Given the description of an element on the screen output the (x, y) to click on. 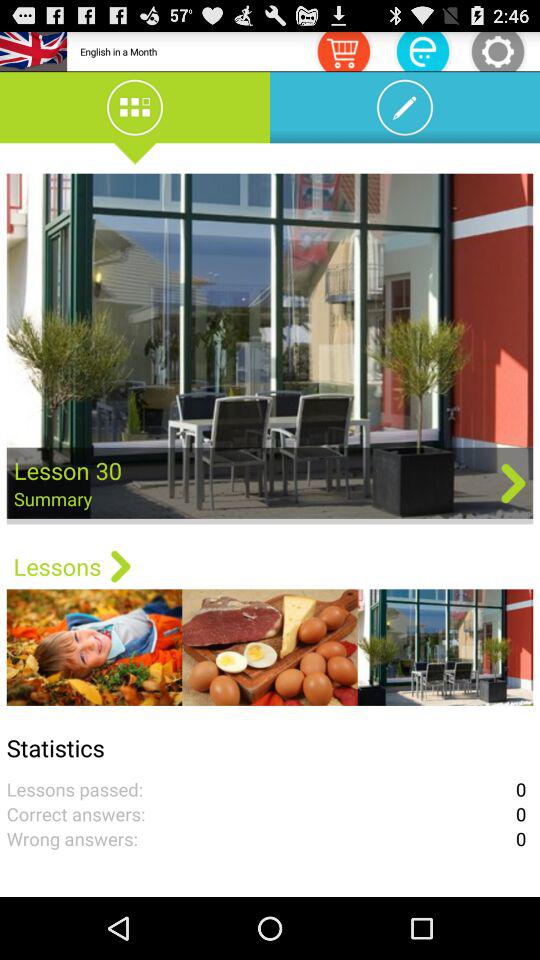
navigate to lesson 30 summary (269, 348)
